Given the description of an element on the screen output the (x, y) to click on. 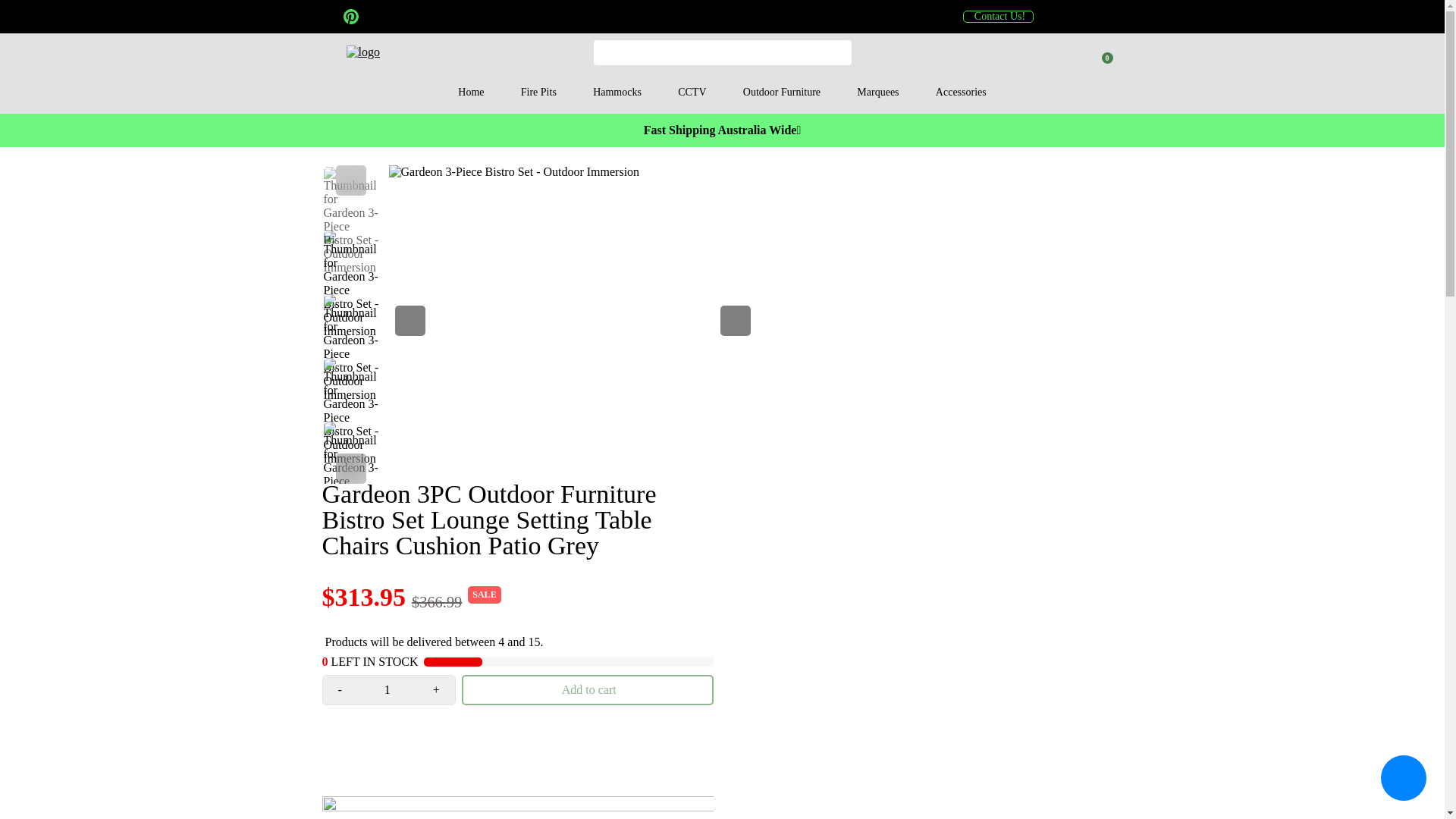
Accessories (960, 92)
Hammocks (617, 92)
Outdoor Furniture (781, 92)
CCTV (691, 92)
Home (470, 92)
Contact Us! (997, 16)
Fire Pits (538, 92)
1 (386, 689)
Marquees (877, 92)
